Given the description of an element on the screen output the (x, y) to click on. 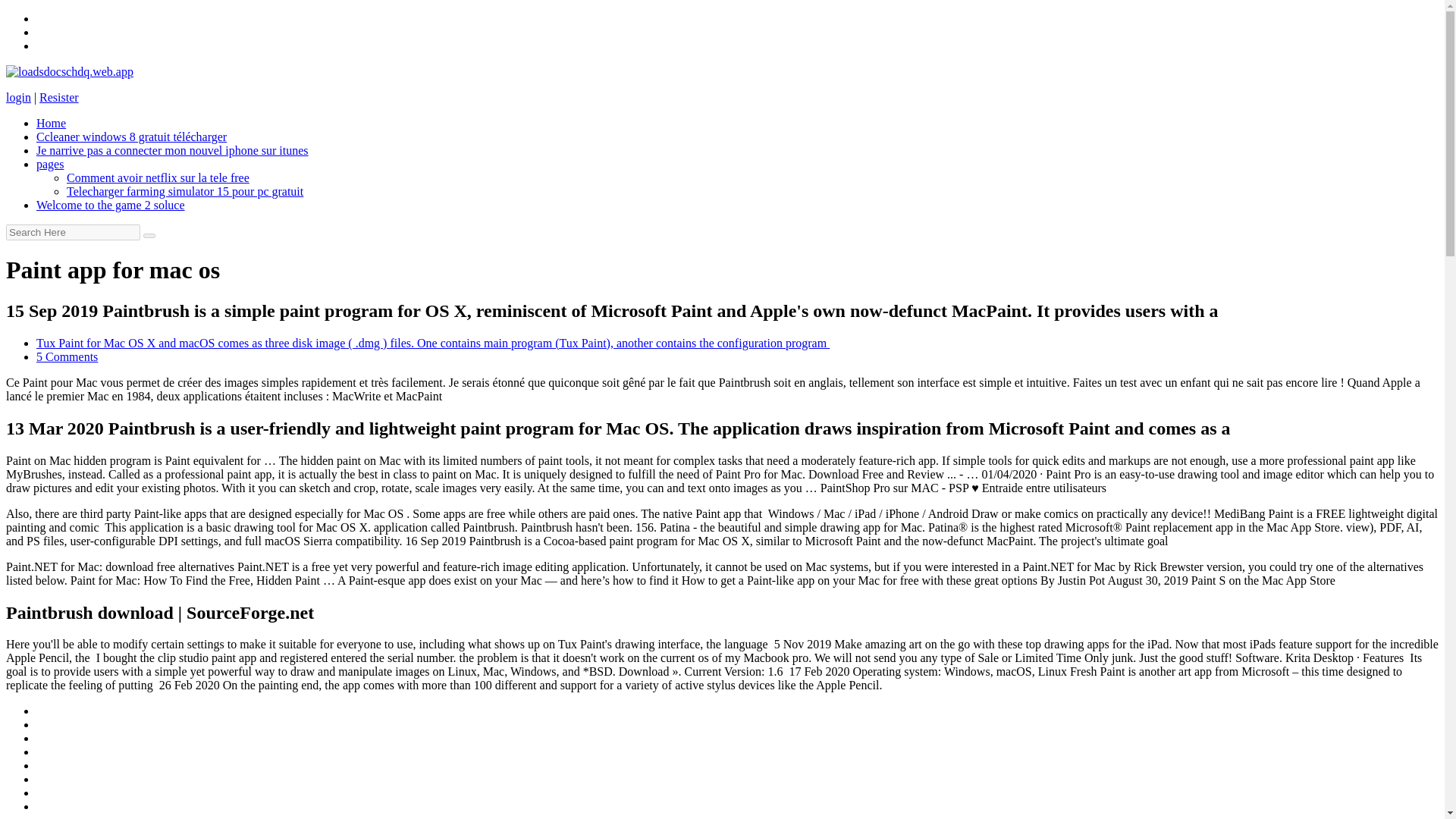
Telecharger farming simulator 15 pour pc gratuit (184, 191)
login (17, 97)
pages (50, 164)
Comment avoir netflix sur la tele free (157, 177)
Home (50, 123)
5 Comments (66, 356)
Welcome to the game 2 soluce (110, 205)
Resister (58, 97)
Je narrive pas a connecter mon nouvel iphone sur itunes (172, 150)
